Given the description of an element on the screen output the (x, y) to click on. 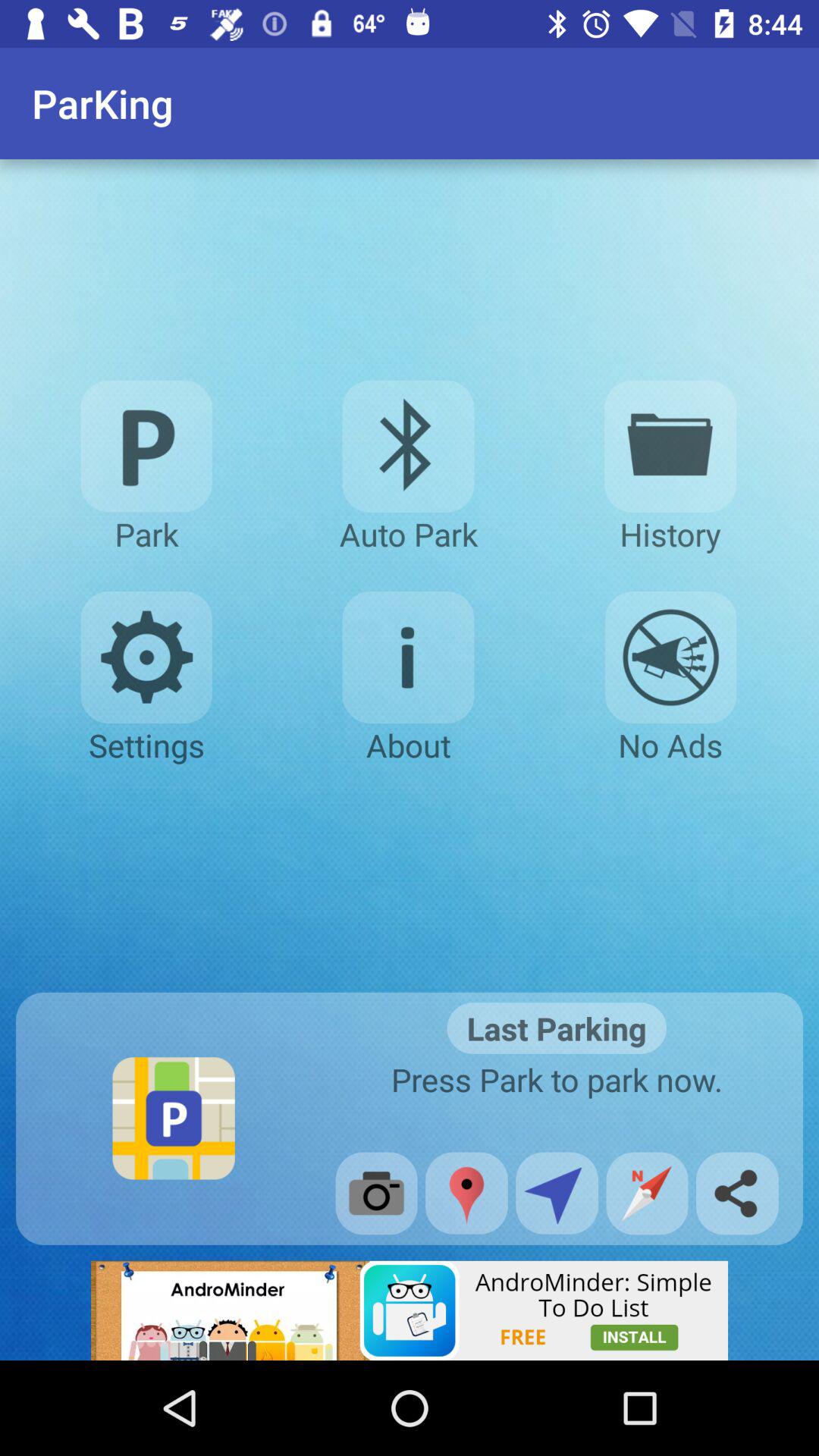
parking history (670, 446)
